Given the description of an element on the screen output the (x, y) to click on. 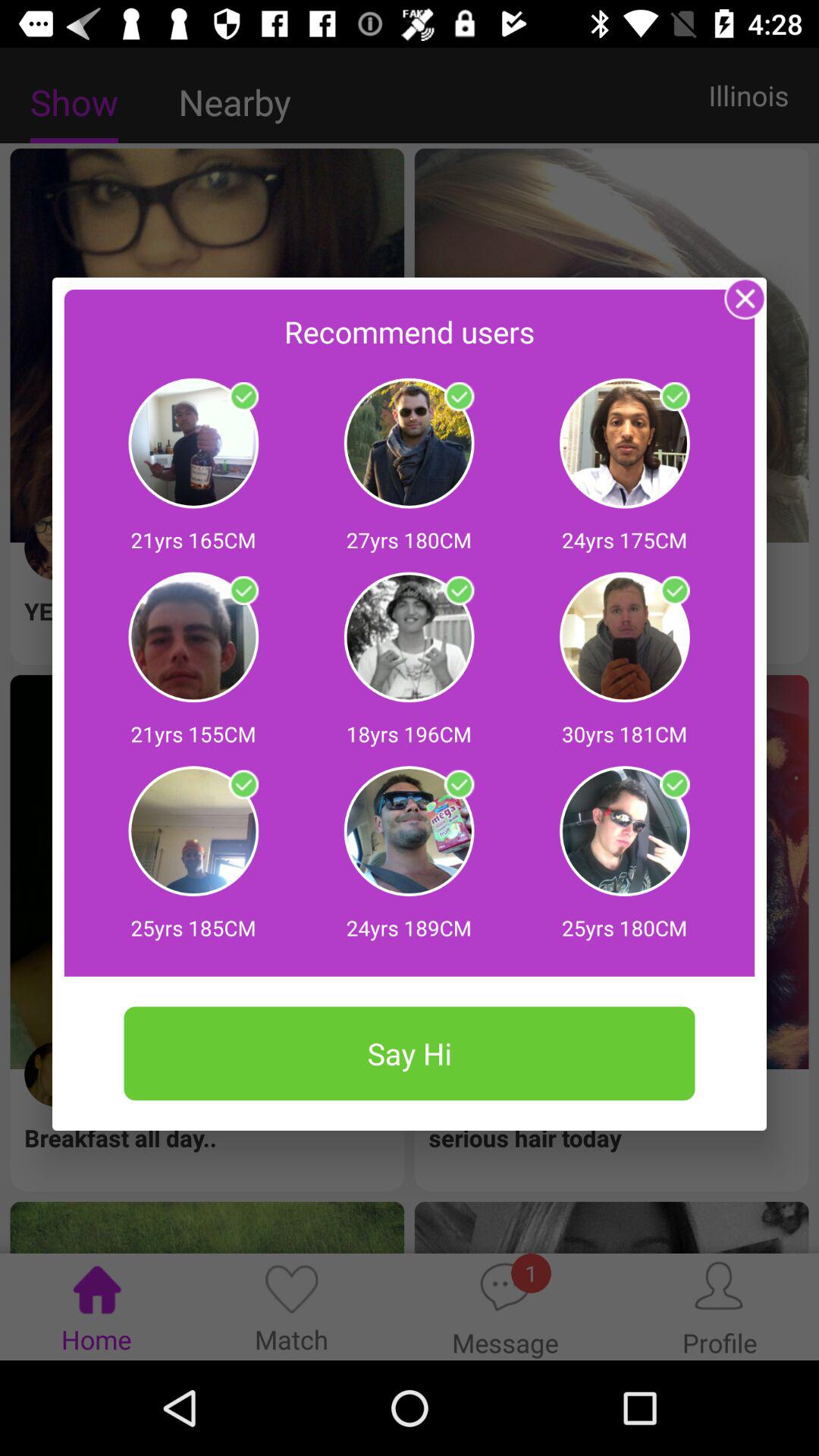
close the pop up (745, 298)
